Given the description of an element on the screen output the (x, y) to click on. 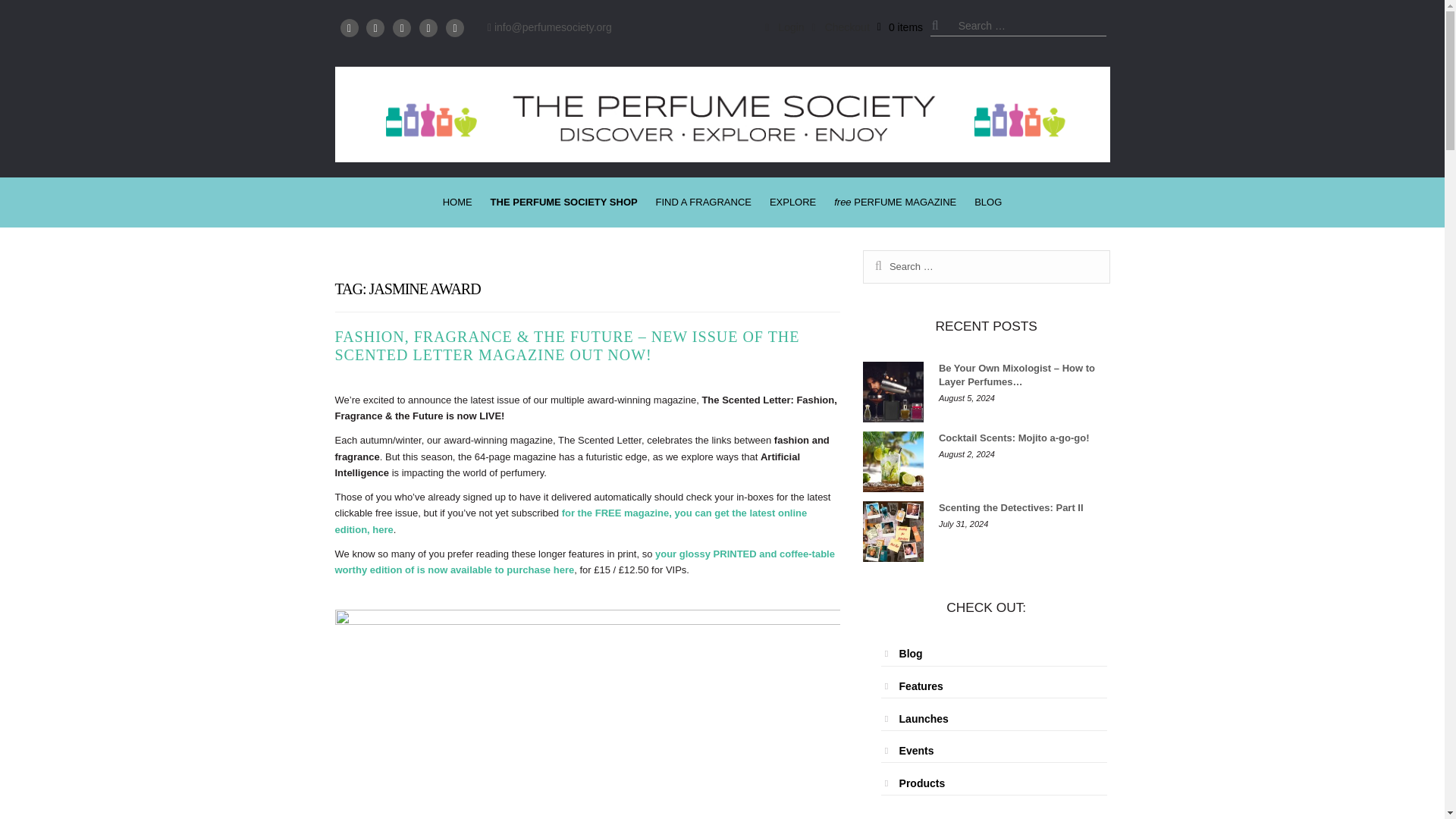
View your shopping basket (900, 27)
Cocktail Scents: Mojito a-go-go! (893, 461)
Scenting the Detectives: Part II (893, 531)
Login (784, 27)
THE PERFUME SOCIETY SHOP (563, 201)
0 items (900, 27)
Checkout (840, 27)
